Given the description of an element on the screen output the (x, y) to click on. 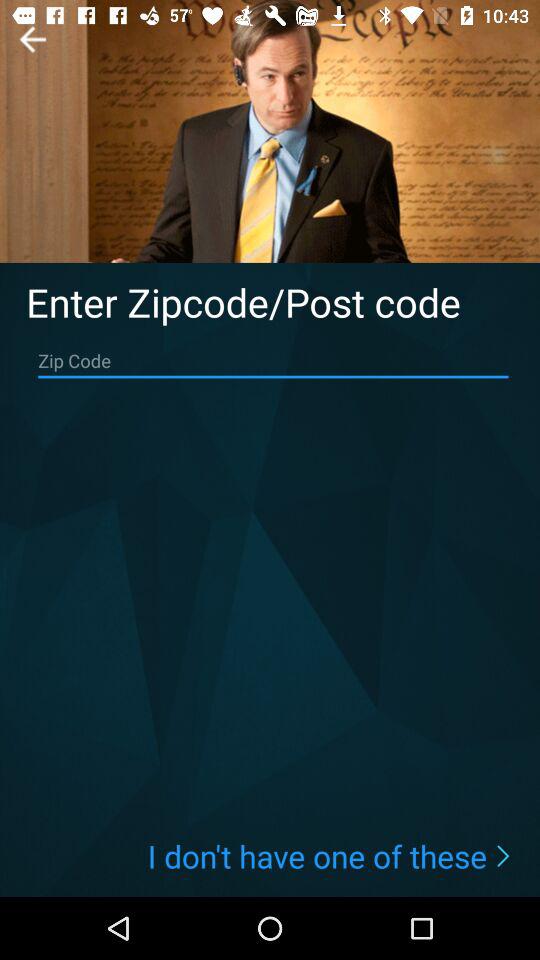
go back (32, 39)
